Given the description of an element on the screen output the (x, y) to click on. 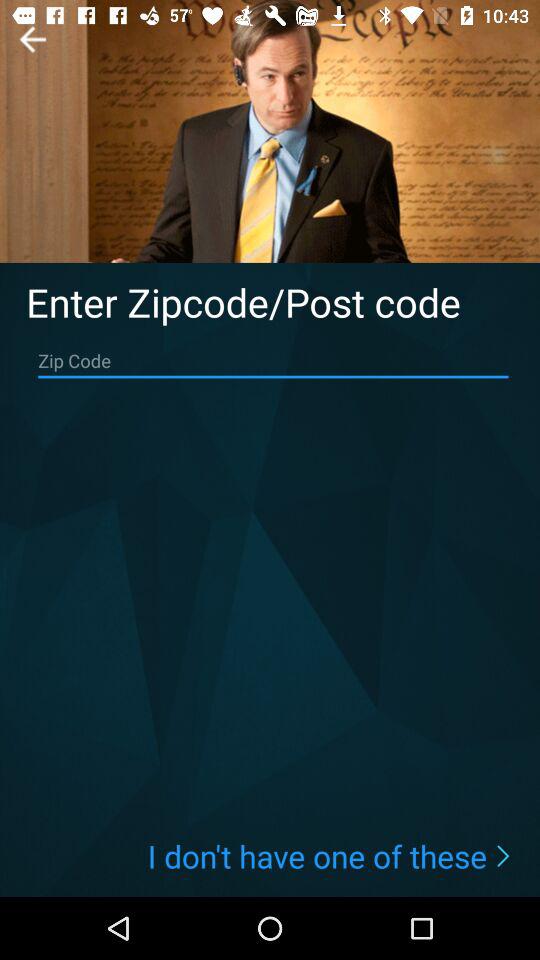
go back (32, 39)
